Given the description of an element on the screen output the (x, y) to click on. 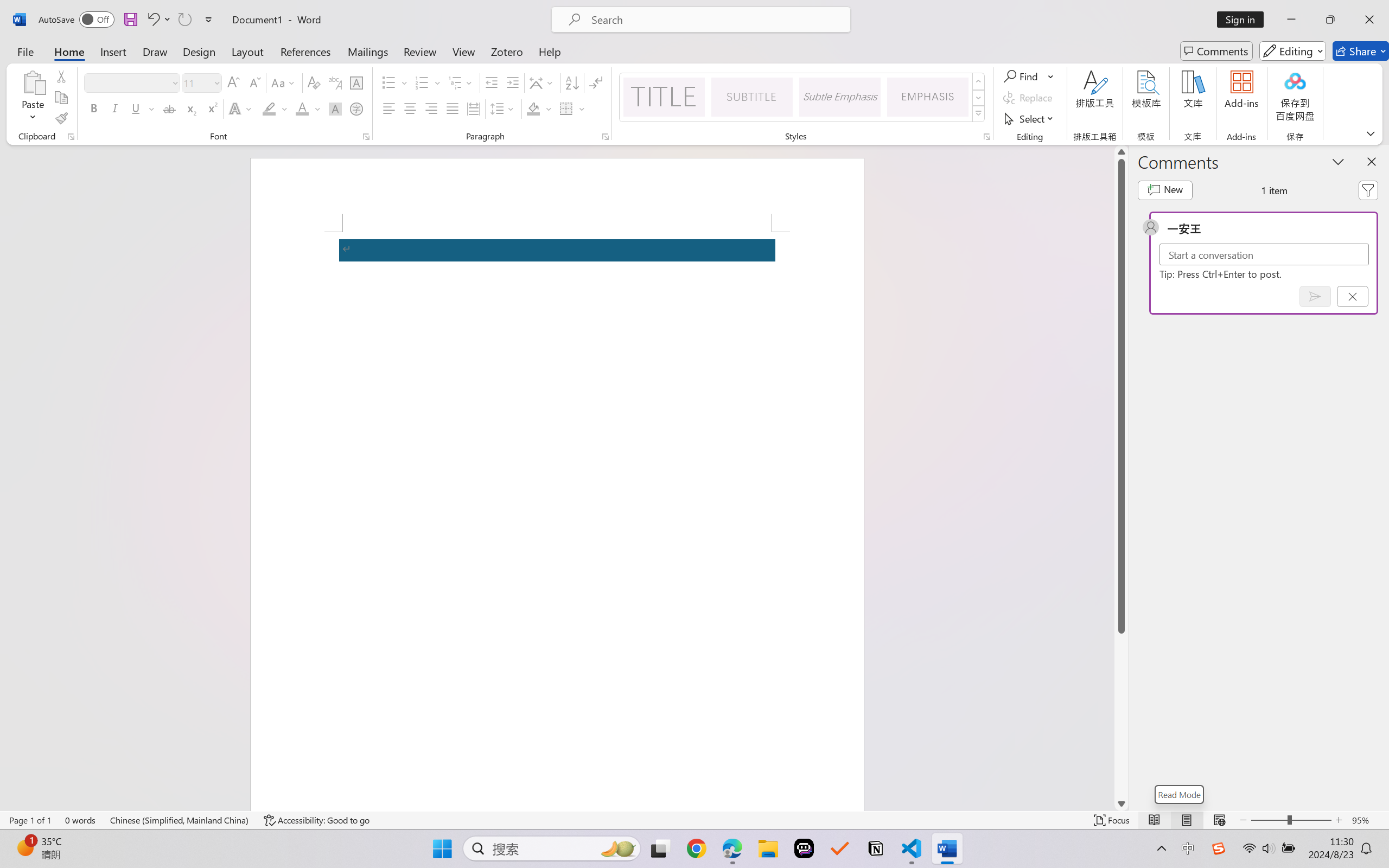
Line down (1120, 803)
Sign in (1244, 19)
Can't Repeat (184, 19)
